Given the description of an element on the screen output the (x, y) to click on. 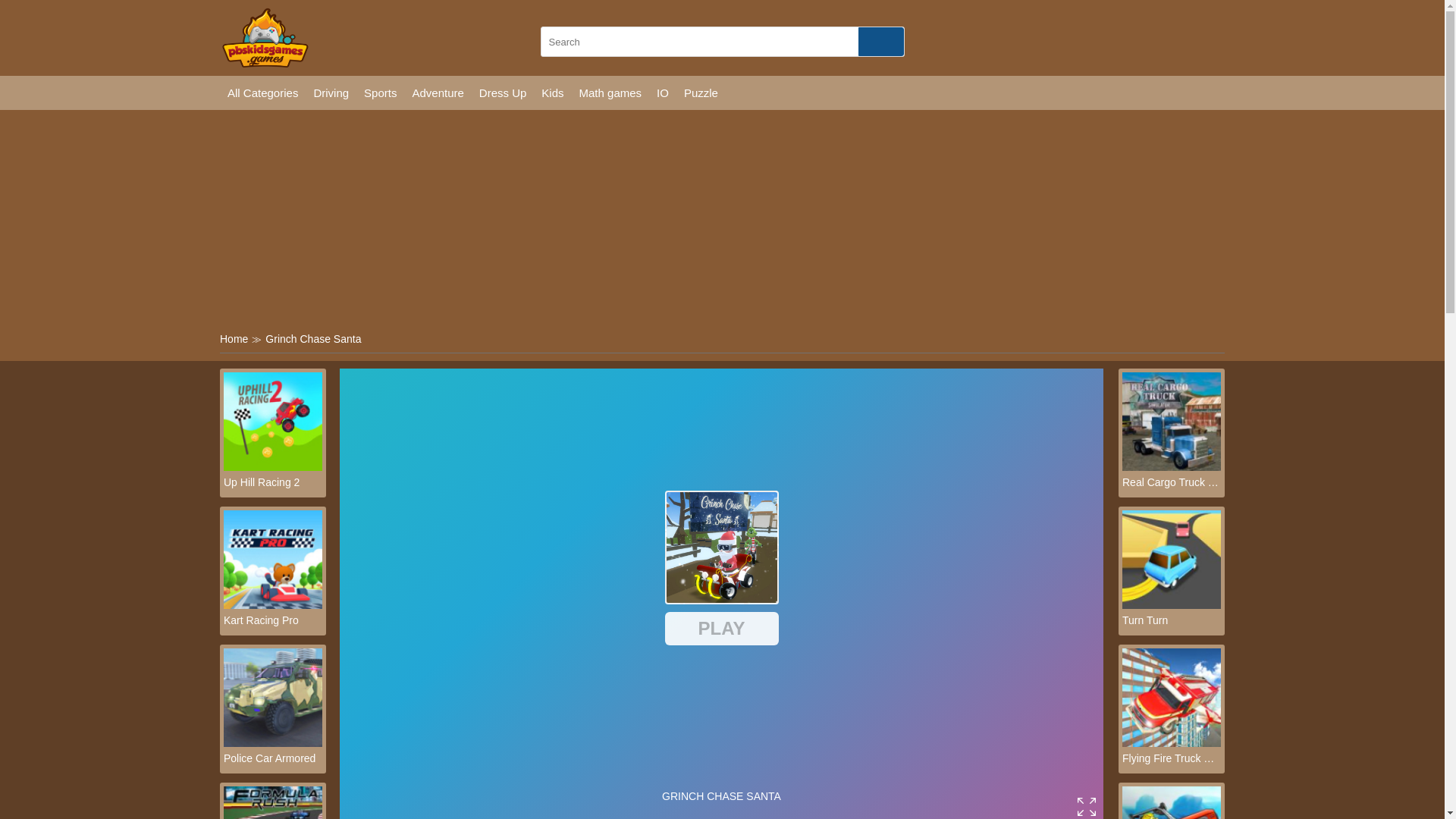
Real Cargo Truck Simulator (1171, 481)
Flying Fire Truck Driving Sim (1171, 758)
Puzzle (701, 92)
Sports (380, 92)
Up Hill Racing 2 (272, 481)
Up Hill Racing 2 (272, 481)
Turn Turn (1171, 620)
Kids (552, 92)
Kart Racing Pro (272, 620)
All category (262, 92)
Police Car Armored (272, 758)
Kart Racing Pro (272, 604)
Math games (610, 92)
Dress Up (502, 92)
Math games (610, 92)
